Given the description of an element on the screen output the (x, y) to click on. 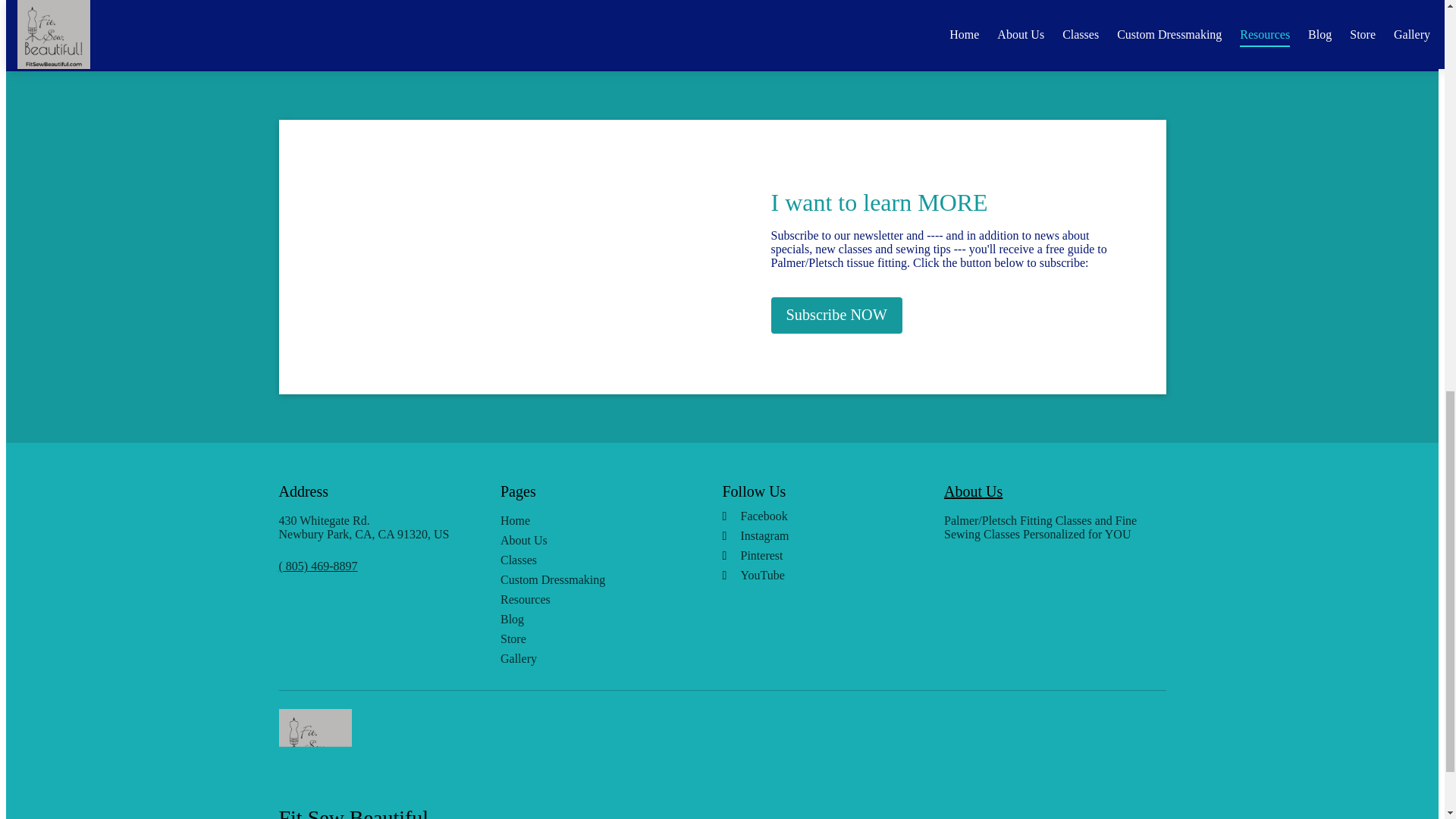
Classes (596, 560)
Store (596, 639)
Instagram (826, 535)
Gallery (596, 658)
Facebook (826, 516)
About Us (973, 491)
Blog (596, 619)
Custom Dressmaking (596, 580)
Home (596, 520)
Pinterest (826, 555)
Resources (596, 599)
Subscribe NOW (835, 315)
About Us (596, 540)
YouTube (826, 575)
